Given the description of an element on the screen output the (x, y) to click on. 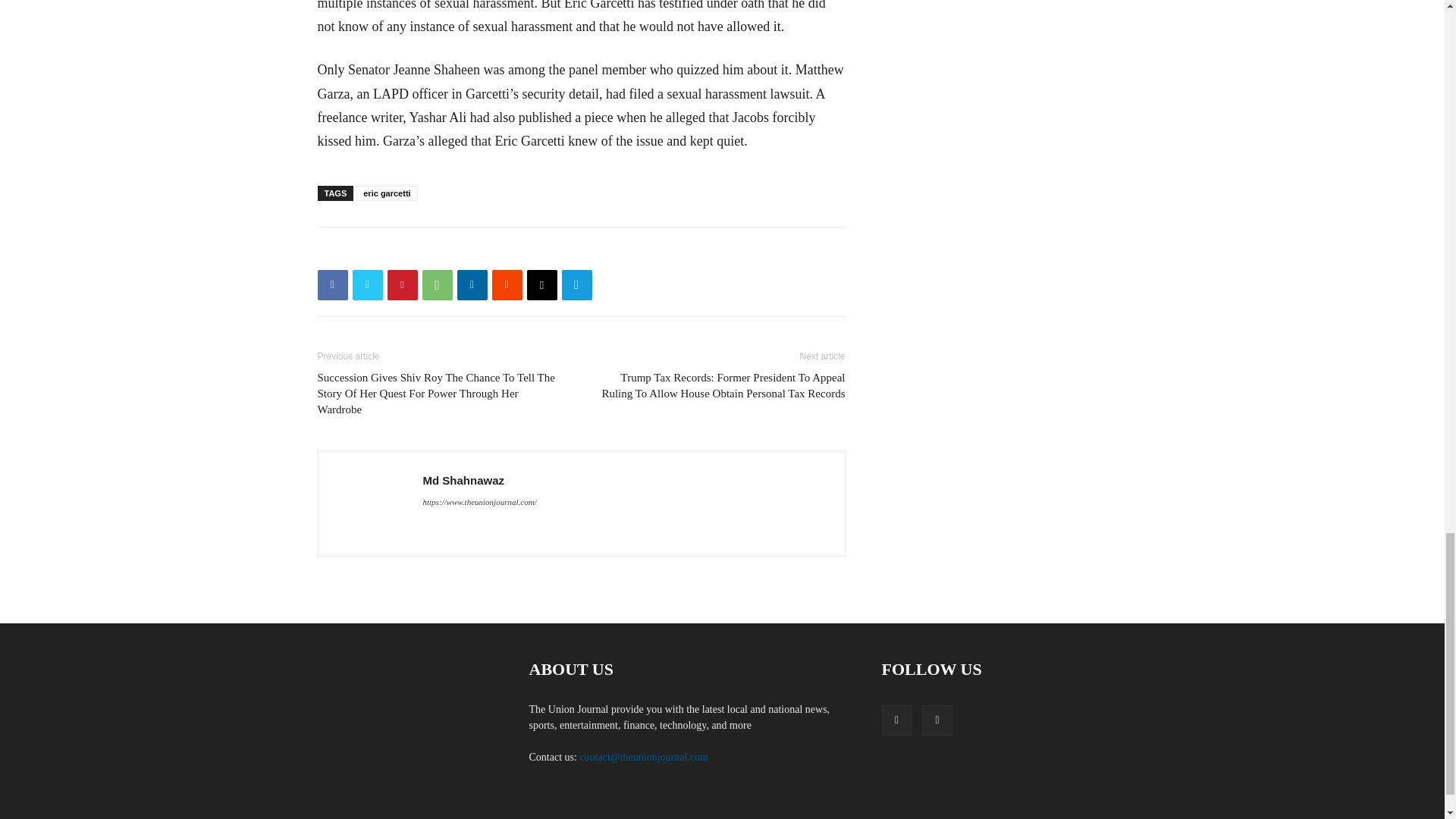
Twitter (366, 285)
WhatsApp (436, 285)
Pinterest (401, 285)
Facebook (332, 285)
